Given the description of an element on the screen output the (x, y) to click on. 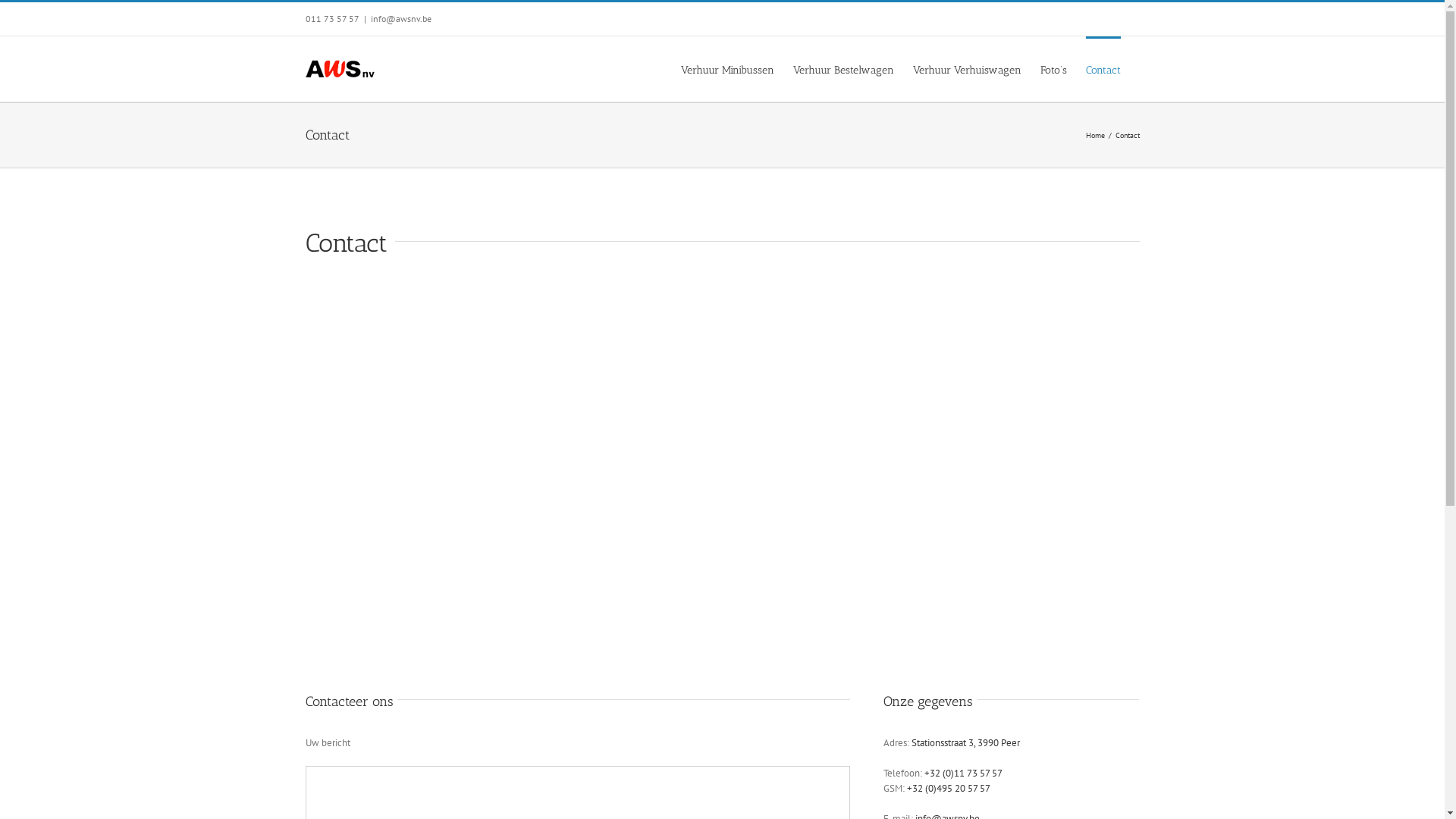
+32 (0)11 73 57 57 Element type: text (963, 772)
info@awsnv.be Element type: text (400, 18)
Verhuur Bestelwagen Element type: text (843, 68)
Contact Element type: text (1102, 68)
Verhuur Verhuiswagen Element type: text (967, 68)
Verhuur Minibussen Element type: text (727, 68)
Home Element type: text (1094, 135)
Stationsstraat 3, 3990 Peer Element type: text (965, 742)
+32 (0)495 20 57 57 Element type: text (948, 787)
